Given the description of an element on the screen output the (x, y) to click on. 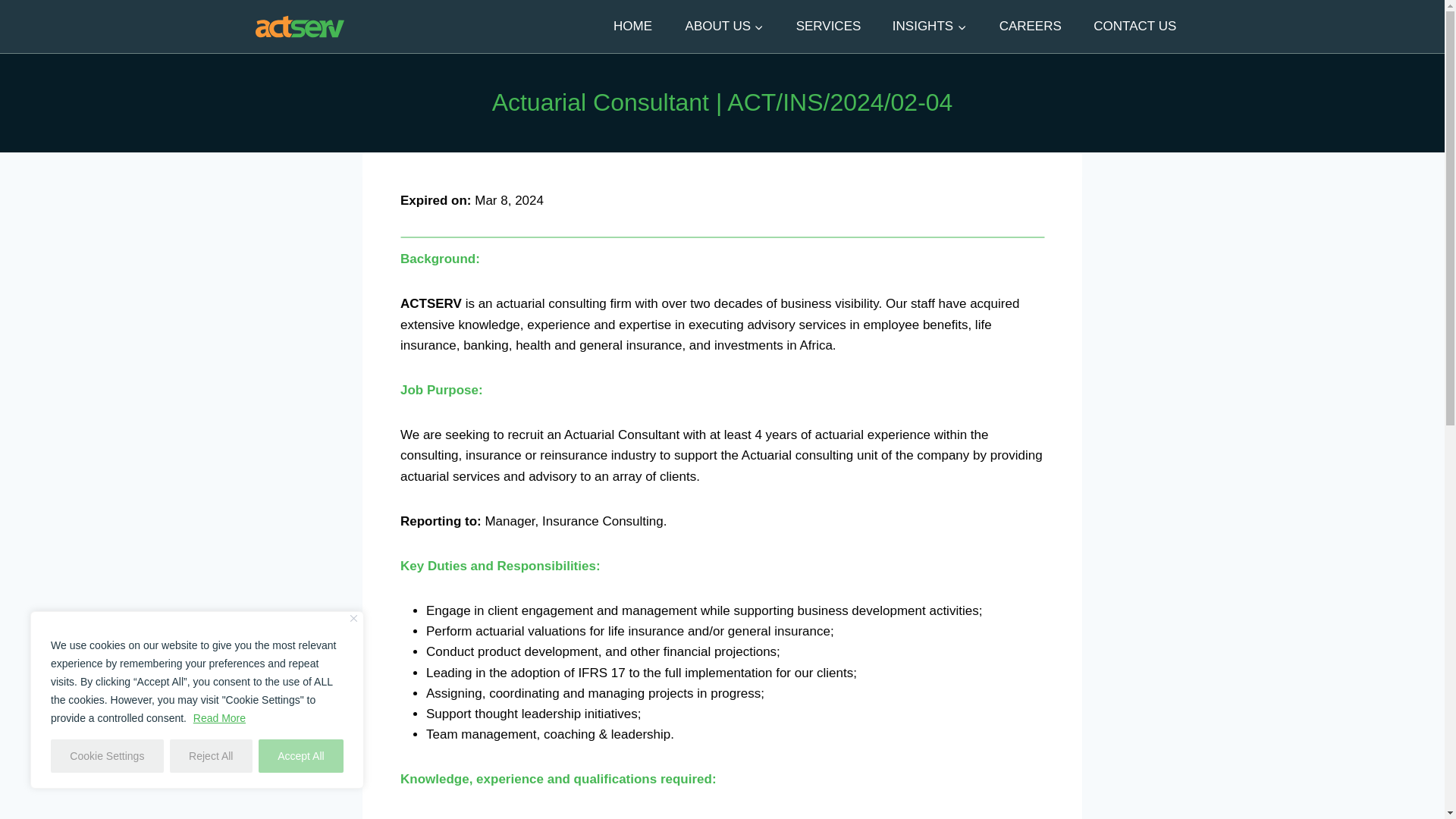
SERVICES (827, 26)
CONTACT US (1134, 26)
HOME (632, 26)
Reject All (210, 756)
Cookie Settings (106, 756)
Read More (219, 717)
INSIGHTS (929, 26)
Accept All (301, 756)
CAREERS (1029, 26)
ABOUT US (723, 26)
